Given the description of an element on the screen output the (x, y) to click on. 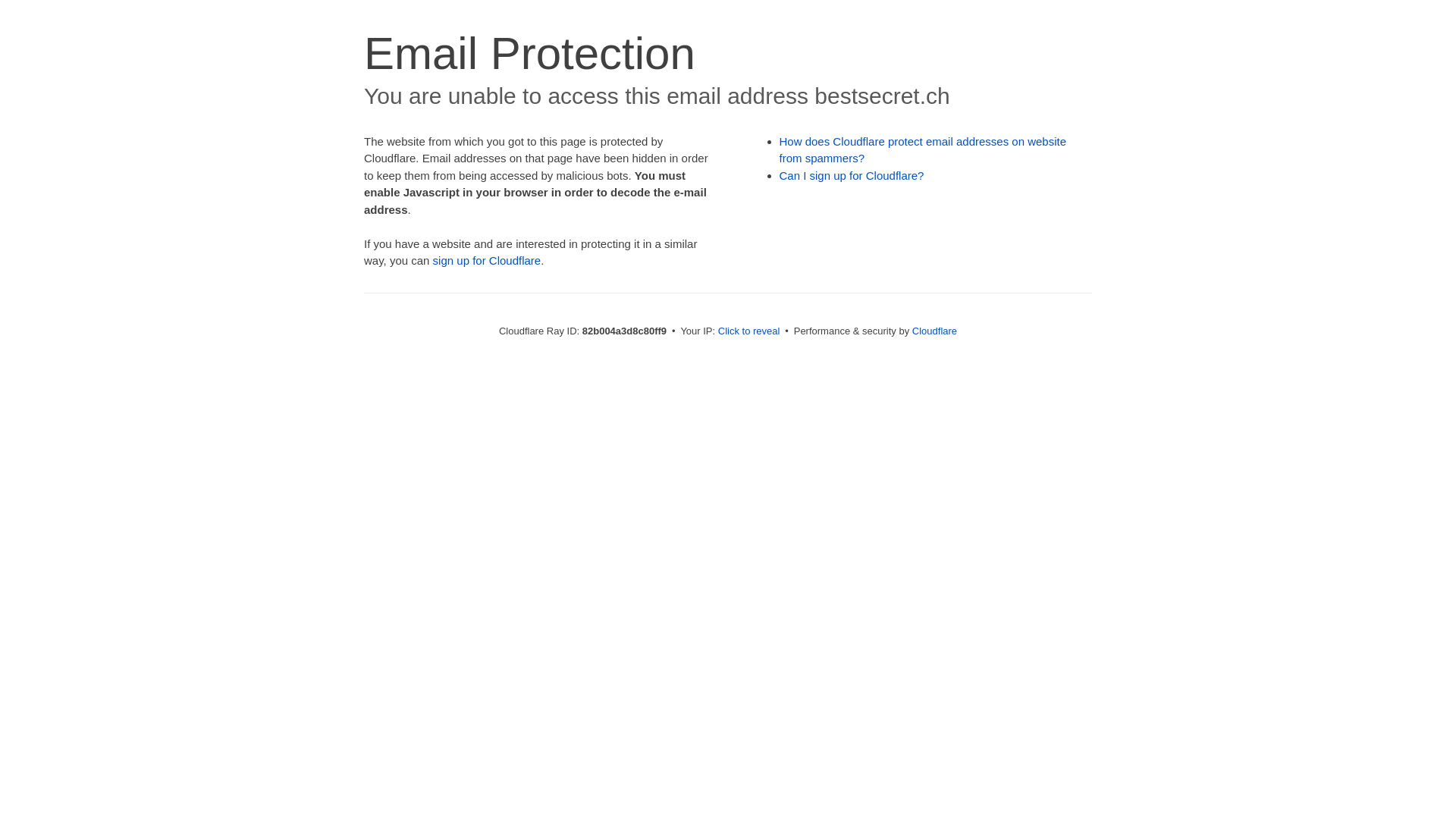
sign up for Cloudflare Element type: text (487, 260)
Cloudflare Element type: text (934, 330)
Can I sign up for Cloudflare? Element type: text (851, 175)
Click to reveal Element type: text (749, 330)
